Given the description of an element on the screen output the (x, y) to click on. 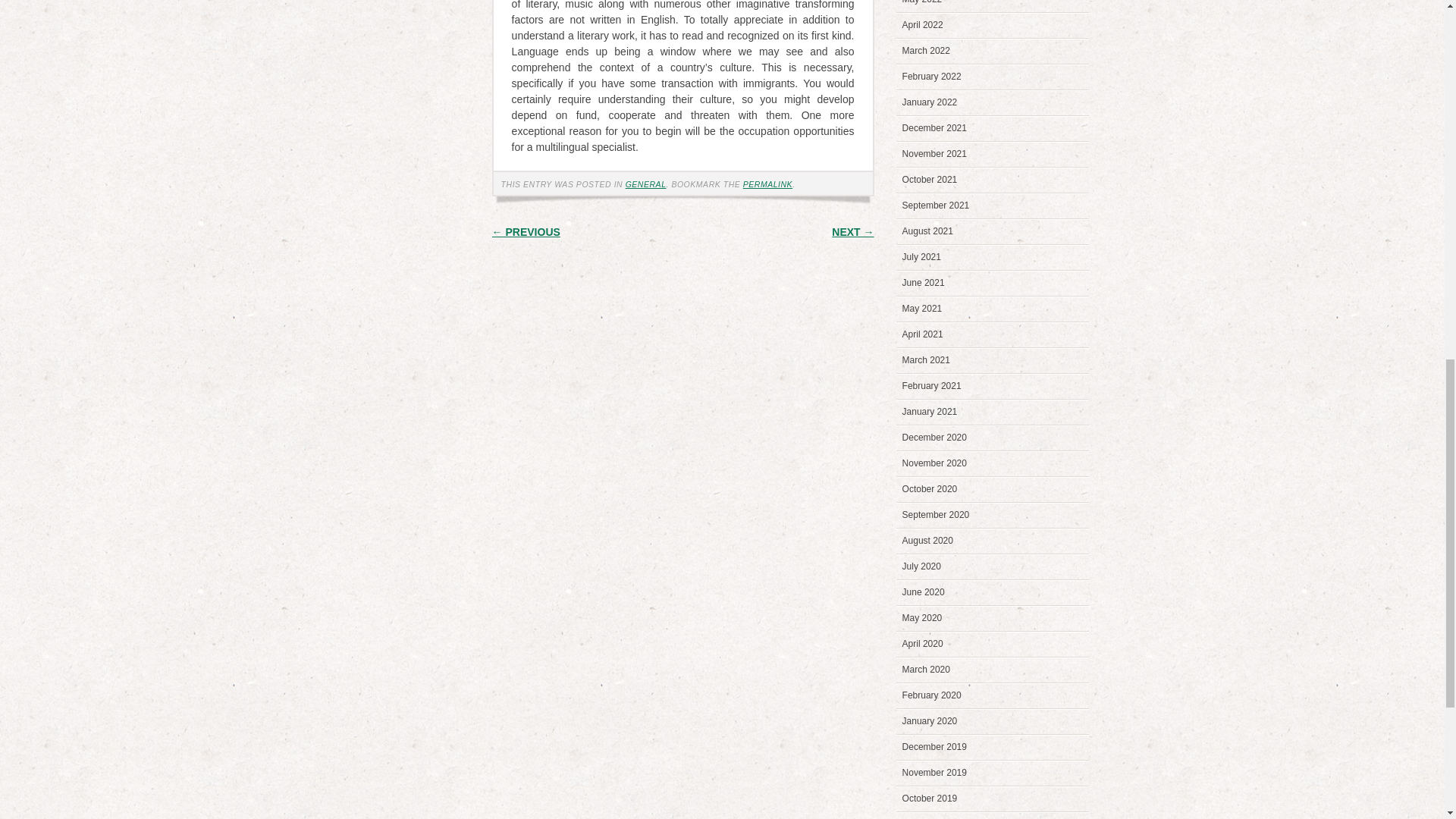
April 2022 (922, 24)
PERMALINK (767, 184)
Permalink to Finest variables for research foreign languages (767, 184)
May 2022 (922, 2)
GENERAL (646, 184)
